Given the description of an element on the screen output the (x, y) to click on. 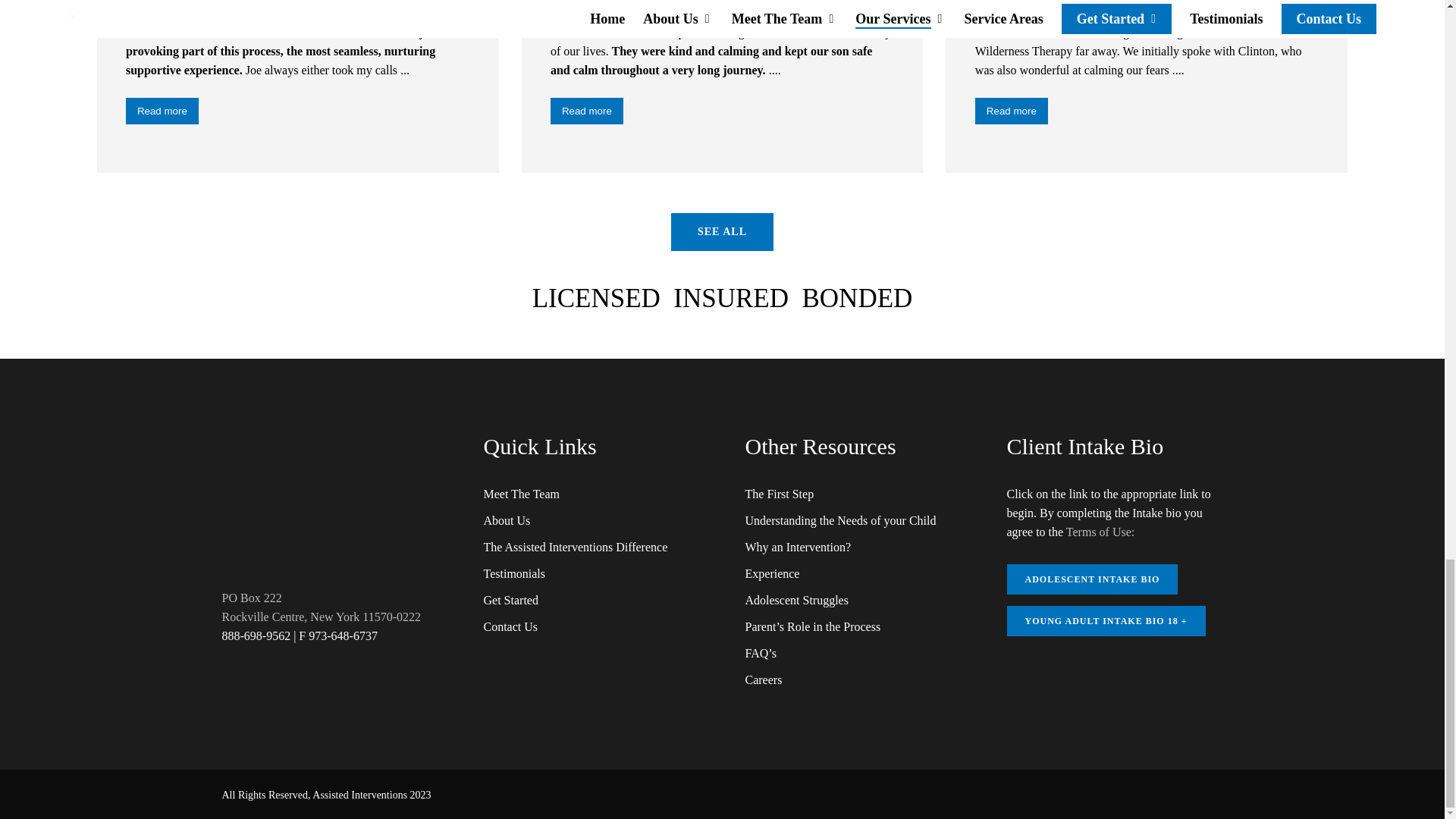
Read more (586, 110)
Read more (161, 110)
PO Box 222 (251, 597)
Read more (1011, 110)
SEE ALL (722, 231)
